Given the description of an element on the screen output the (x, y) to click on. 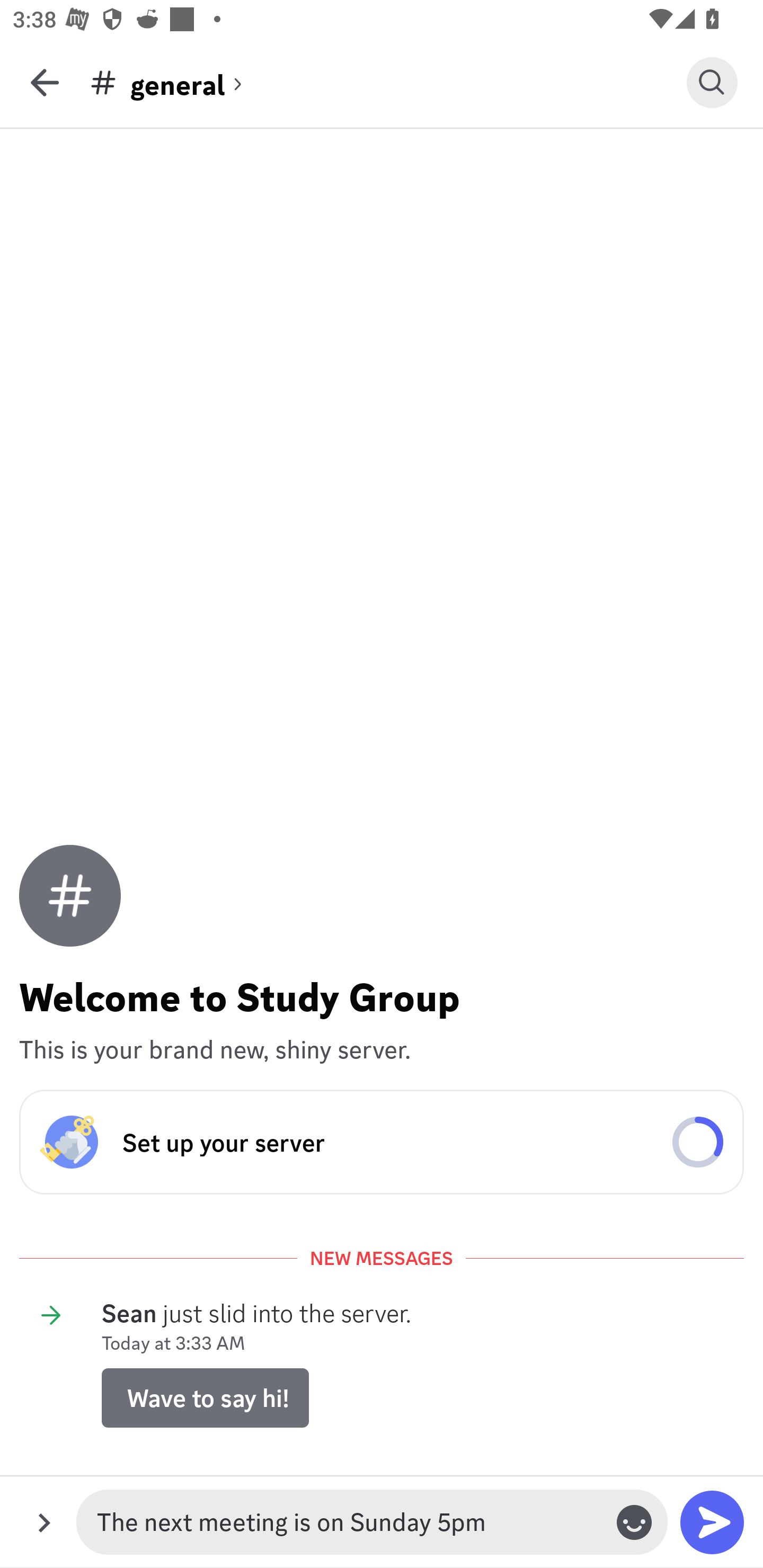
general (channel) general general (channel) (387, 82)
Back (44, 82)
Search (711, 82)
Set up your server (381, 1141)
Wave to say hi! (205, 1397)
More (44, 1522)
Send (711, 1522)
The next meeting is on Sunday 5pm (347, 1522)
Toggle emoji keyboard (634, 1522)
